Given the description of an element on the screen output the (x, y) to click on. 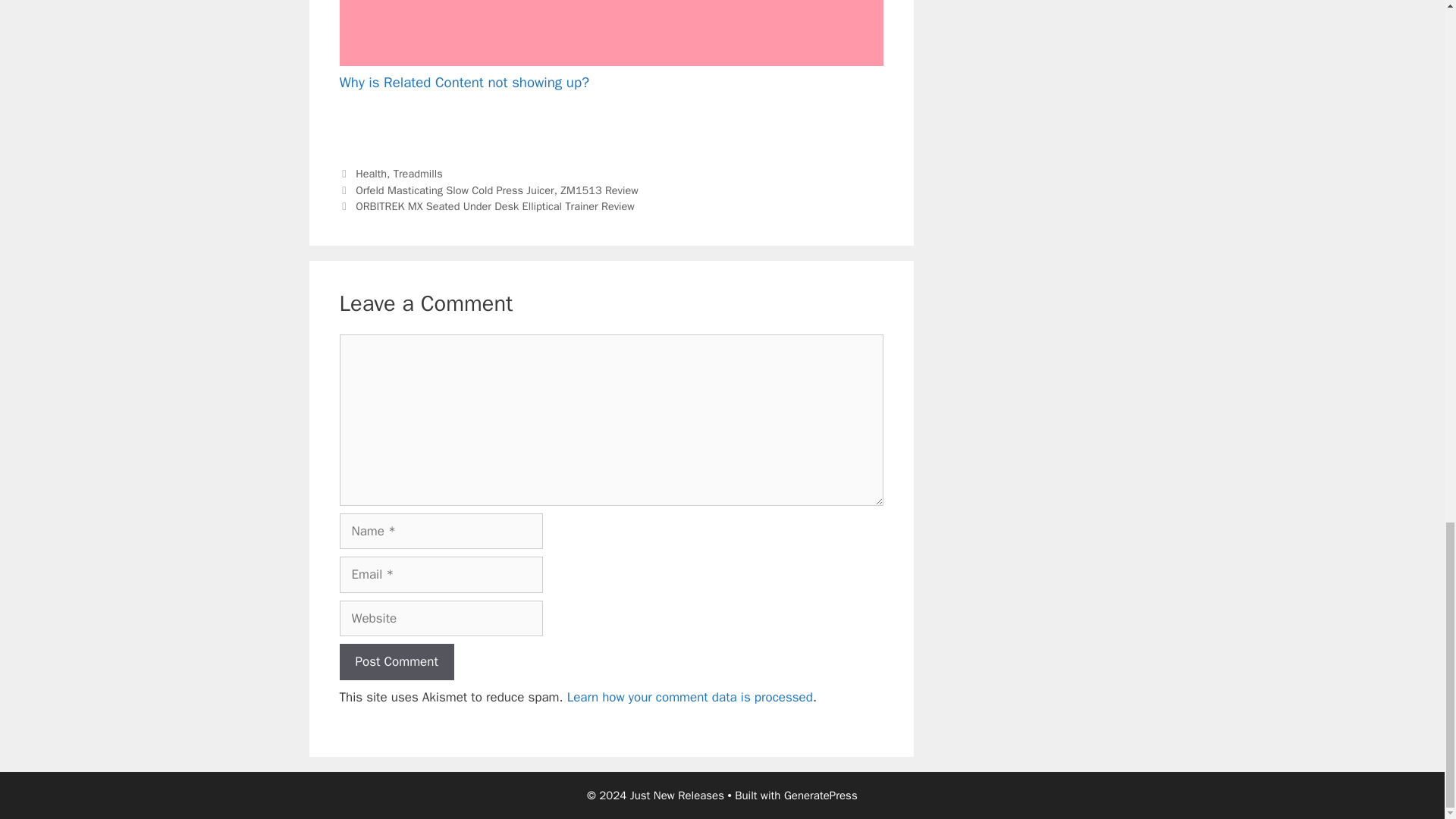
Post Comment (396, 661)
Why is Related Content not showing up? (611, 46)
